Given the description of an element on the screen output the (x, y) to click on. 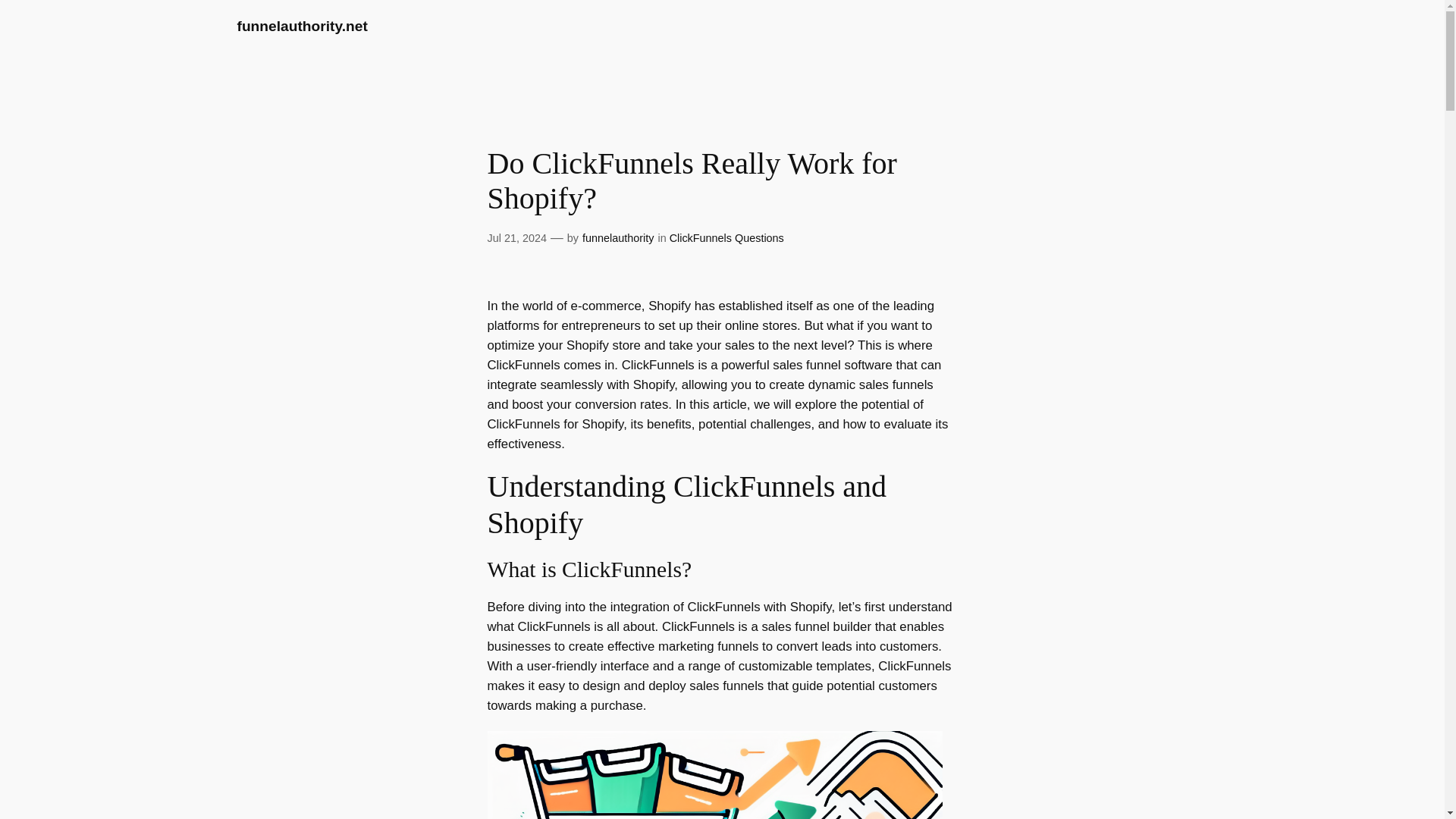
Jul 21, 2024 (516, 237)
funnelauthority.net (300, 26)
funnelauthority (617, 237)
ClickFunnels Questions (726, 237)
